Given the description of an element on the screen output the (x, y) to click on. 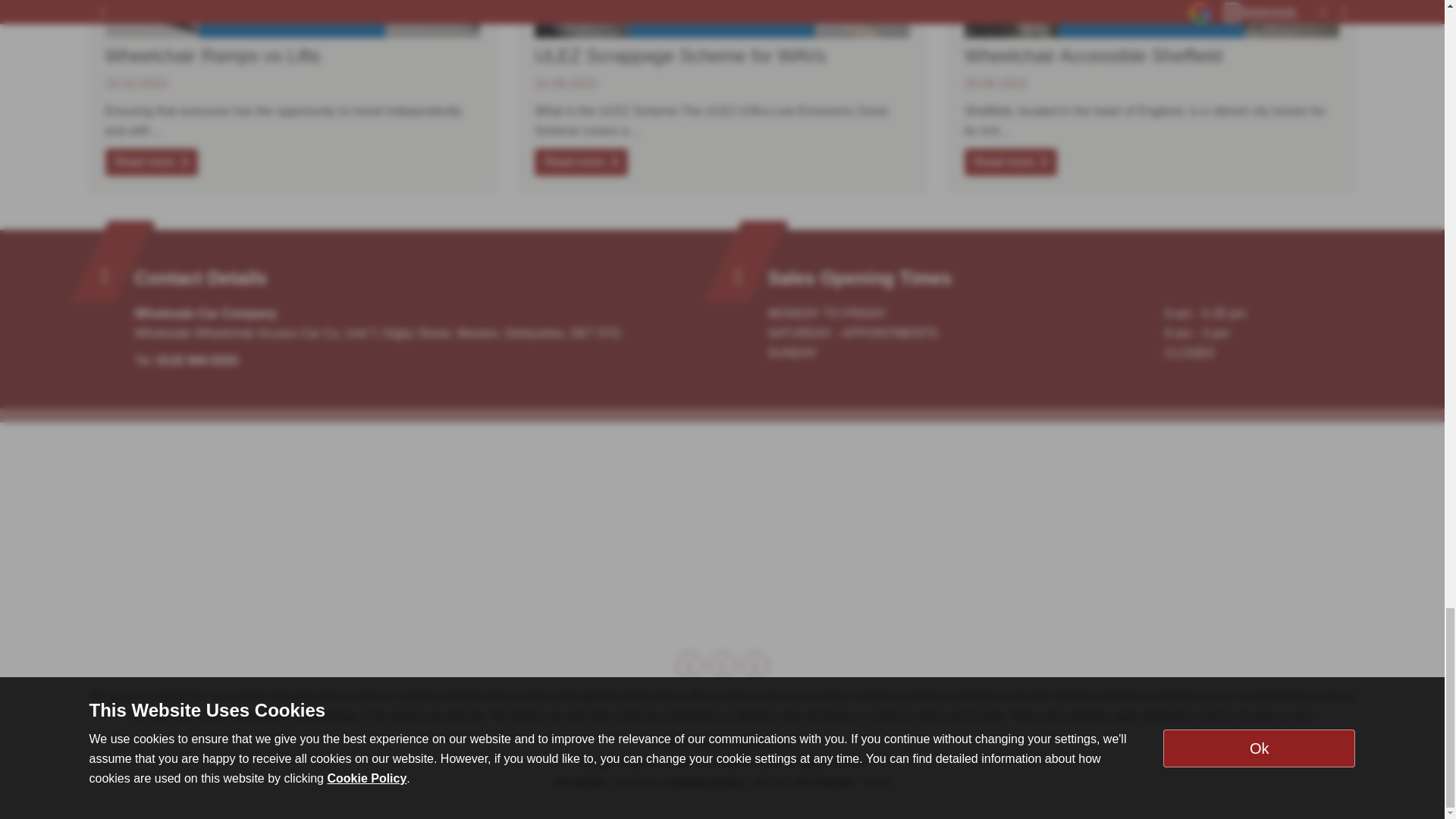
Read more (150, 162)
Wheelchair Ramps vs Lifts (150, 162)
Wheelchair Ramps vs Lifts (292, 18)
ULEZ Scrappage Scheme for WAVs (722, 18)
Wheelchair Accessible Sheffield (1093, 55)
Wheelchair Ramps vs Lifts (212, 55)
Wheelchair Ramps vs Lifts (212, 55)
Wheelchair Accessible Sheffield (1010, 162)
ULEZ Scrappage Scheme for WAVs (580, 162)
ULEZ Scrappage Scheme for WAVs (679, 55)
Wheelchair Accessible Sheffield (1151, 18)
ULEZ Scrappage Scheme for WAVs (679, 55)
